Given the description of an element on the screen output the (x, y) to click on. 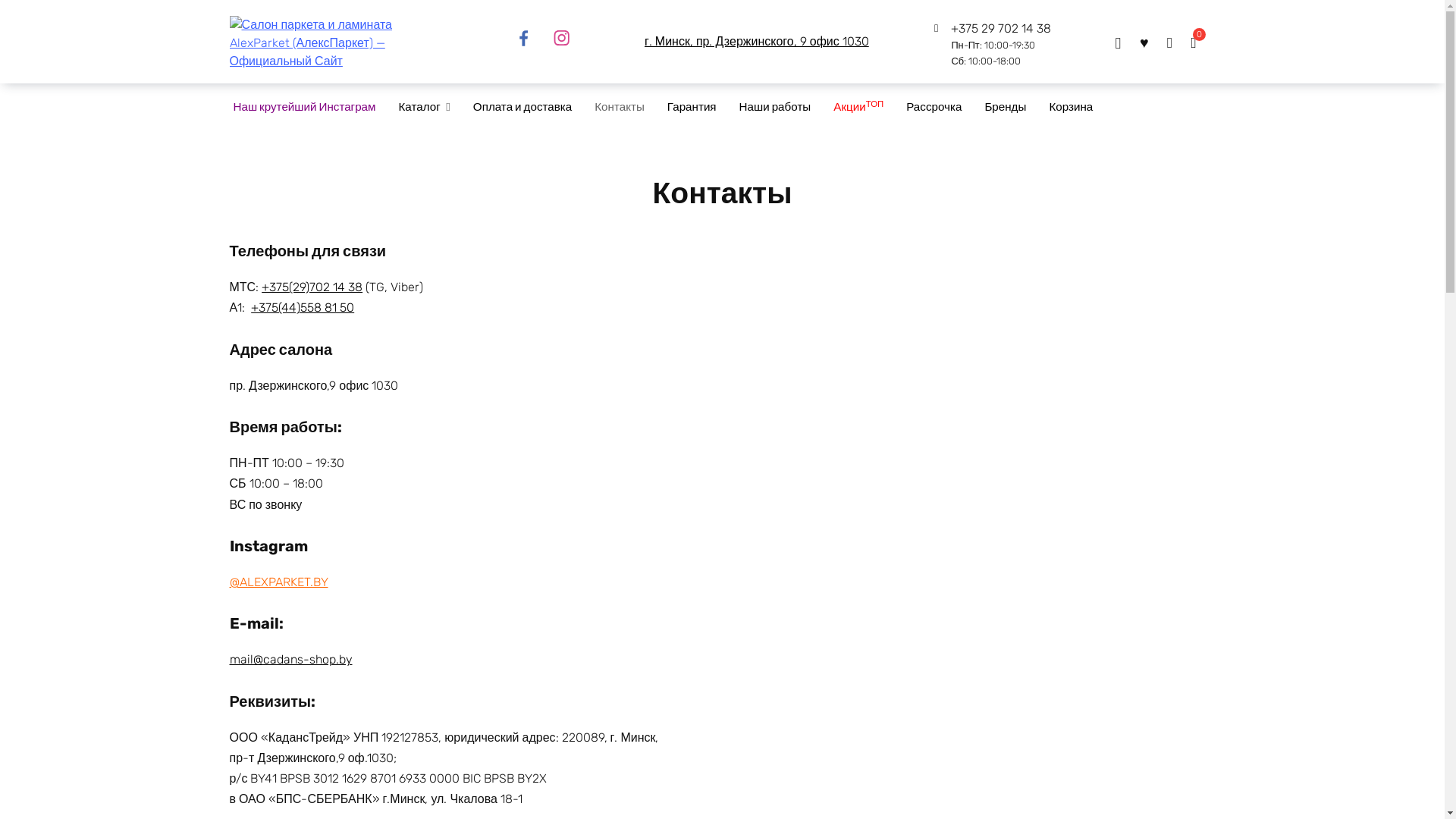
0 Element type: text (1197, 41)
+375(44)558 81 50 Element type: text (302, 307)
@ALEXPARKET.BY Element type: text (278, 581)
+375(29)702 14 38 Element type: text (311, 286)
mail@cadans-shop.by Element type: text (290, 659)
